Given the description of an element on the screen output the (x, y) to click on. 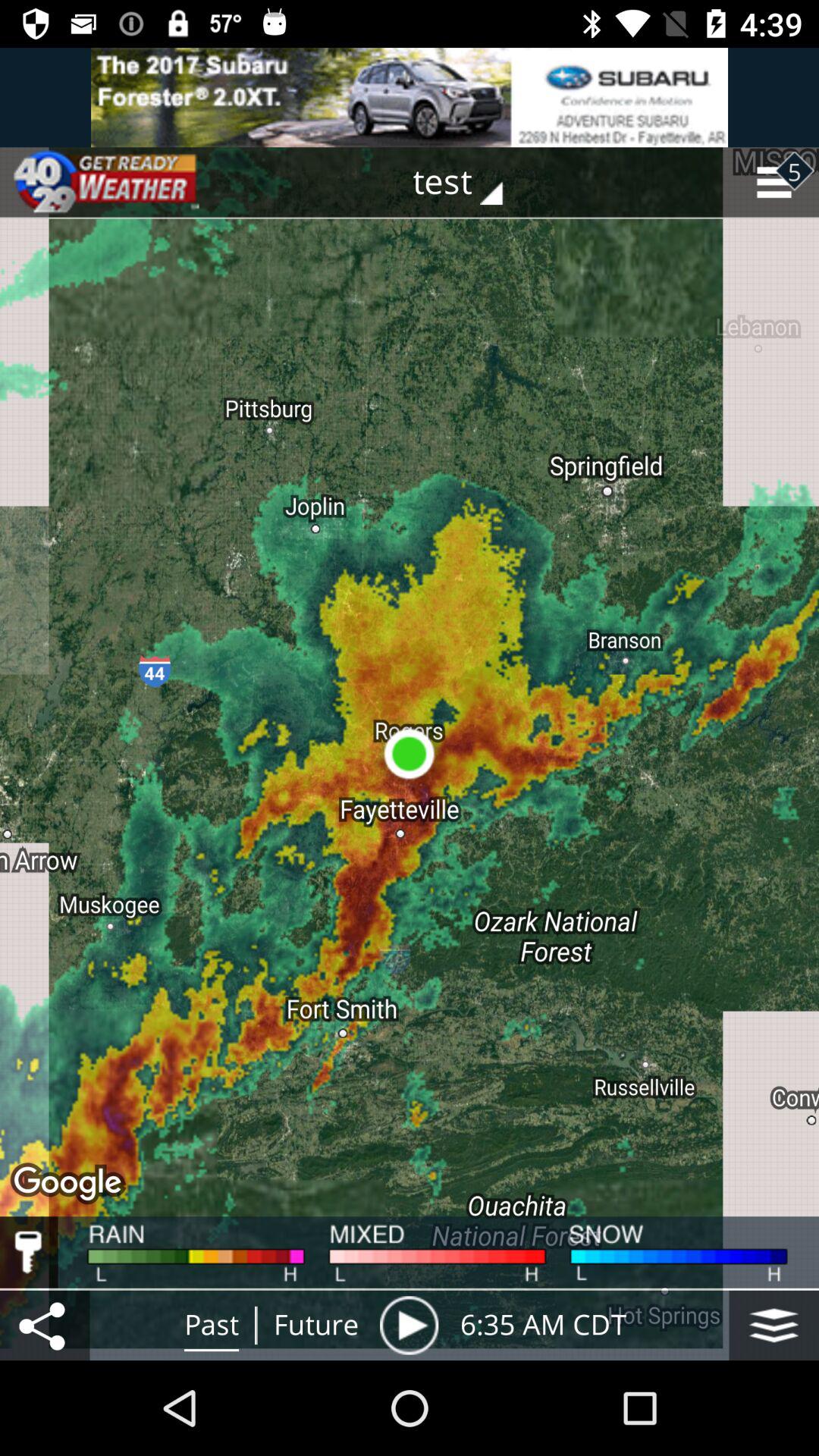
toggle layers on/off (774, 1325)
